Given the description of an element on the screen output the (x, y) to click on. 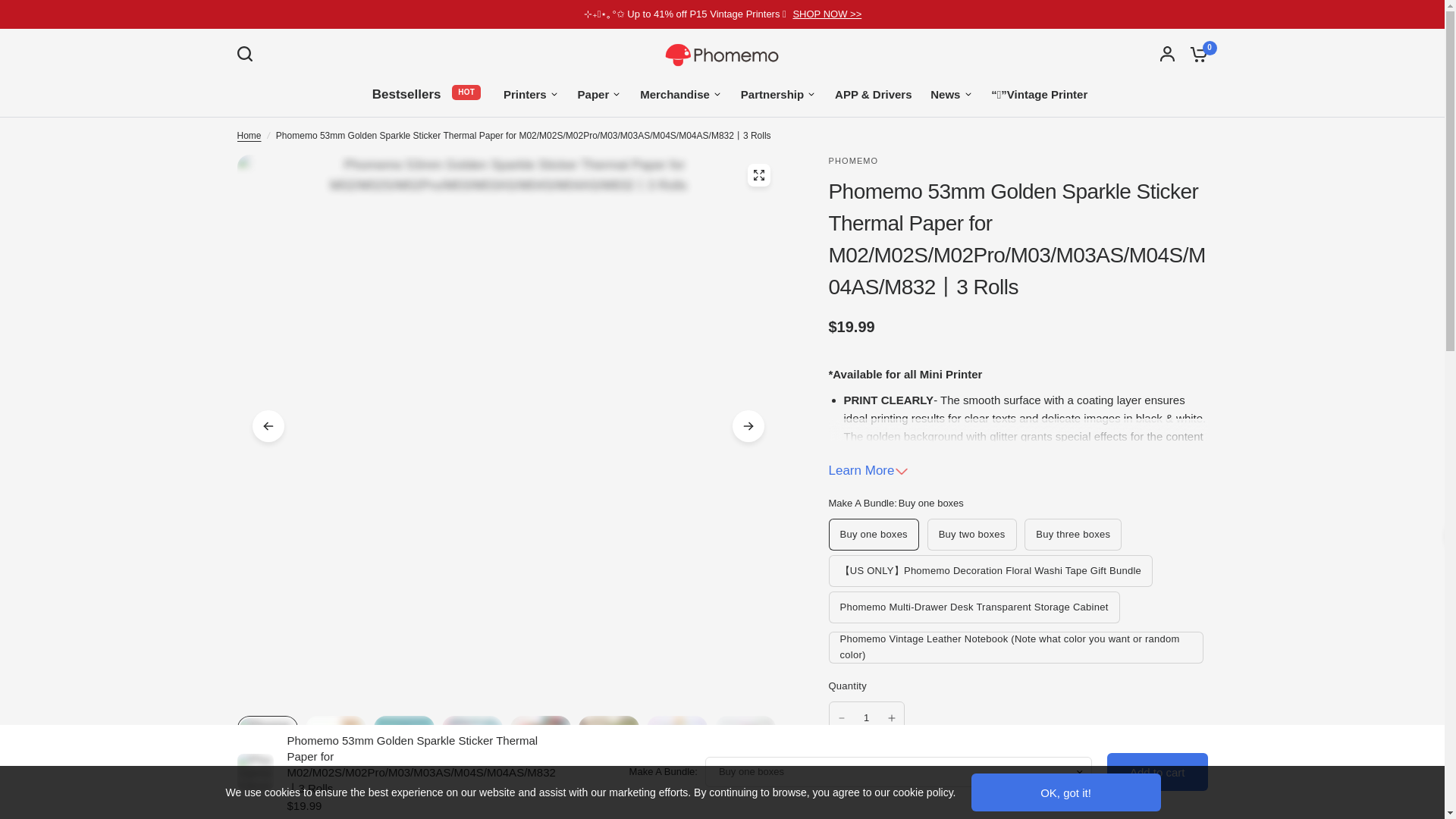
Search (247, 53)
